Given the description of an element on the screen output the (x, y) to click on. 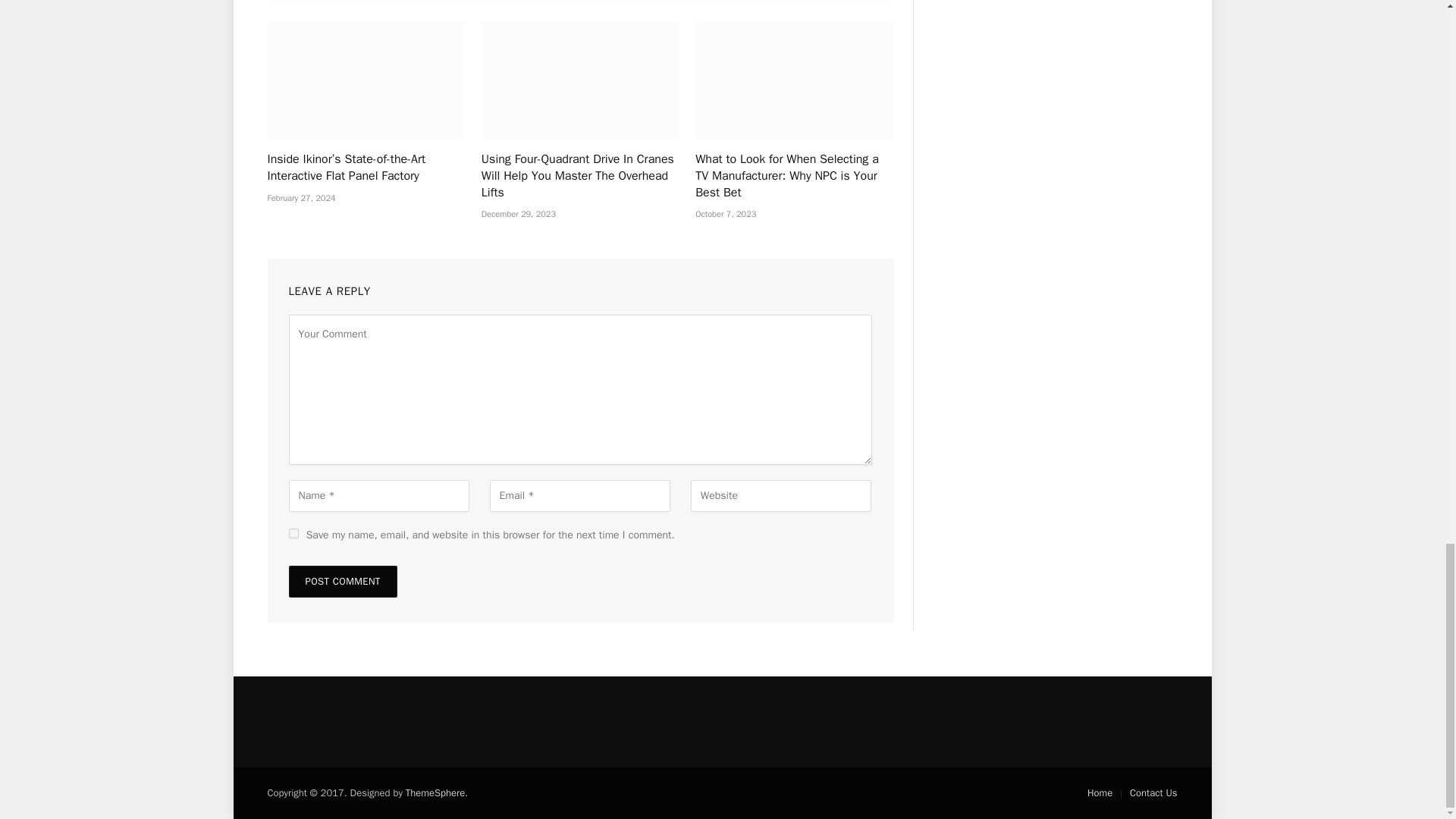
yes (293, 533)
Post Comment (342, 581)
